Given the description of an element on the screen output the (x, y) to click on. 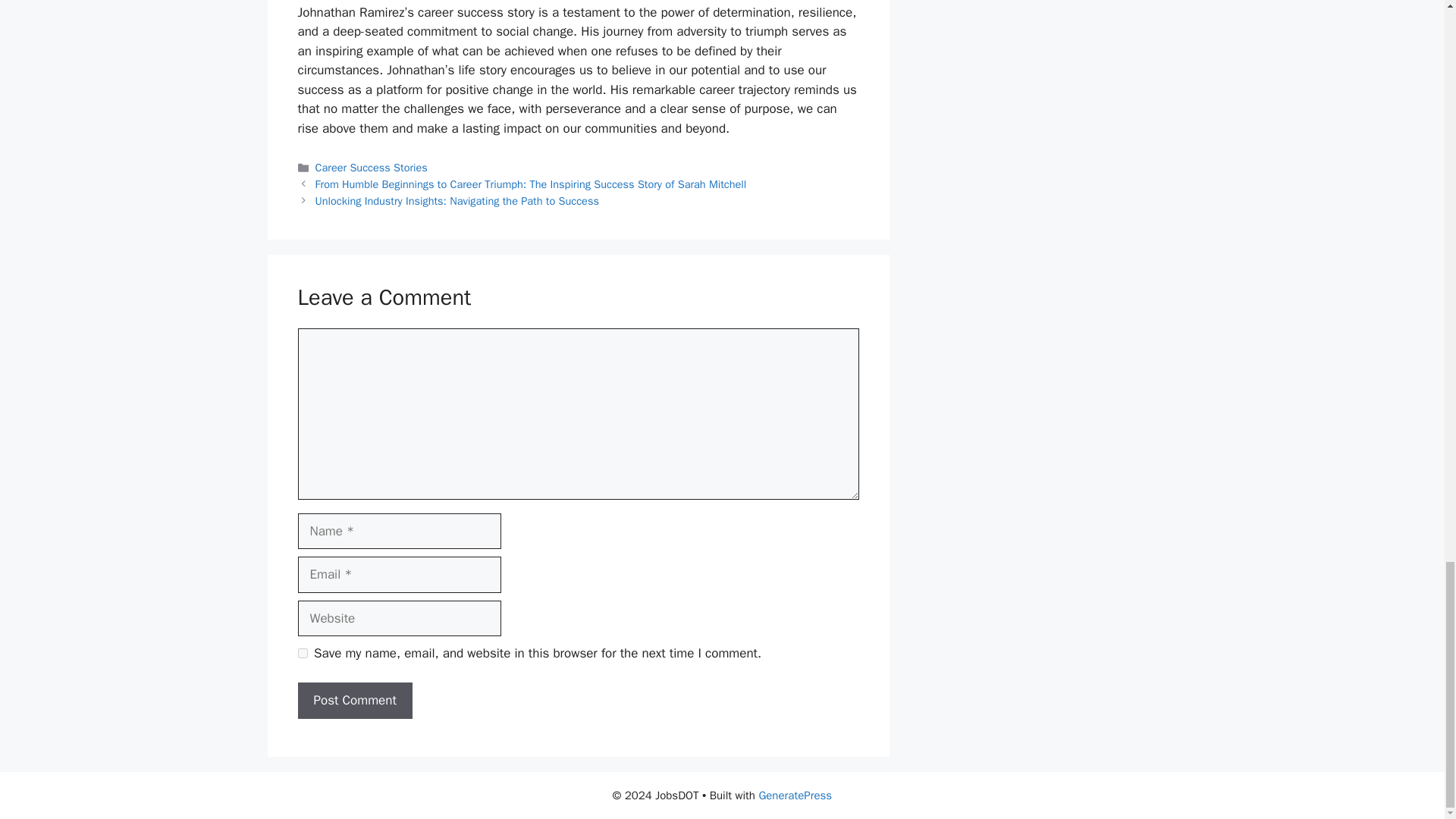
GeneratePress (794, 795)
Post Comment (354, 700)
Unlocking Industry Insights: Navigating the Path to Success (456, 201)
yes (302, 653)
Career Success Stories (371, 167)
Post Comment (354, 700)
